Given the description of an element on the screen output the (x, y) to click on. 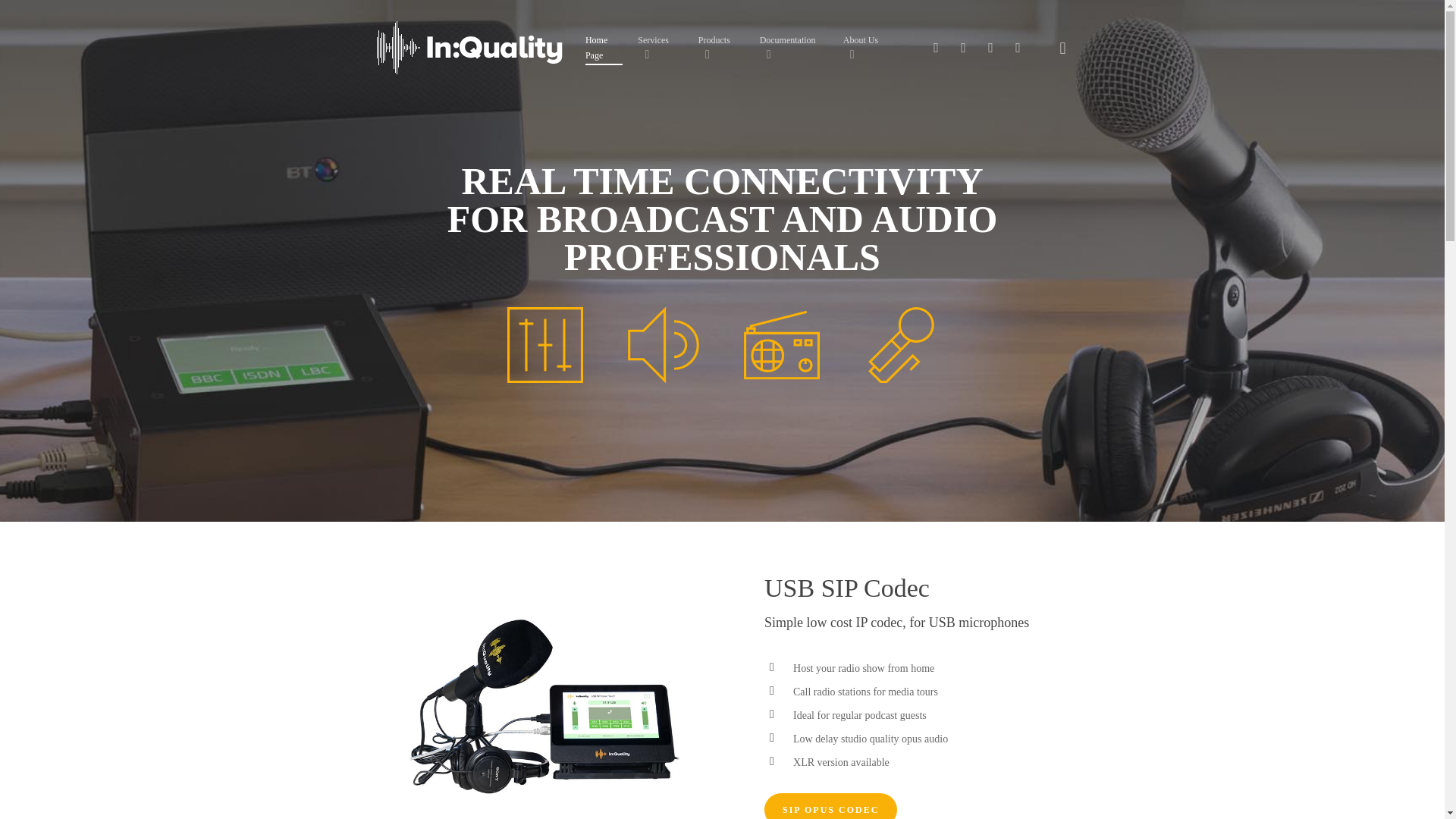
Home Page (604, 47)
Services (659, 47)
About Us (867, 47)
SIP OPUS CODEC (830, 806)
Documentation (794, 47)
Products (721, 47)
